Given the description of an element on the screen output the (x, y) to click on. 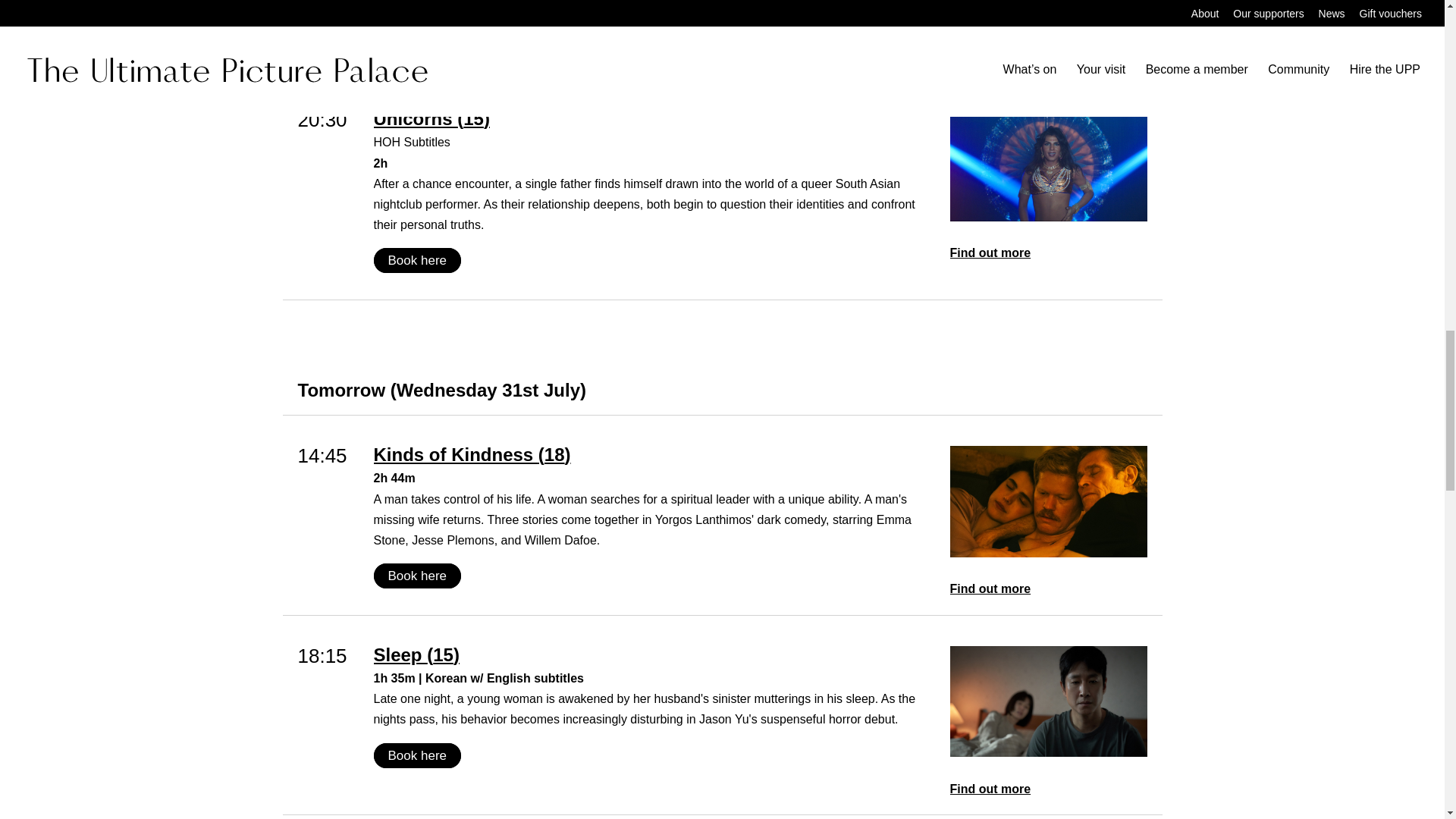
Book here (416, 755)
Book here (416, 575)
Book here (416, 260)
Sleep 15 (653, 655)
Kinds of Kindness 18 (653, 454)
Find out more (1048, 252)
Book here (416, 39)
Find out more (1048, 588)
Find out more (1048, 52)
Unicorns 15 (653, 118)
Find out more (1048, 788)
